Given the description of an element on the screen output the (x, y) to click on. 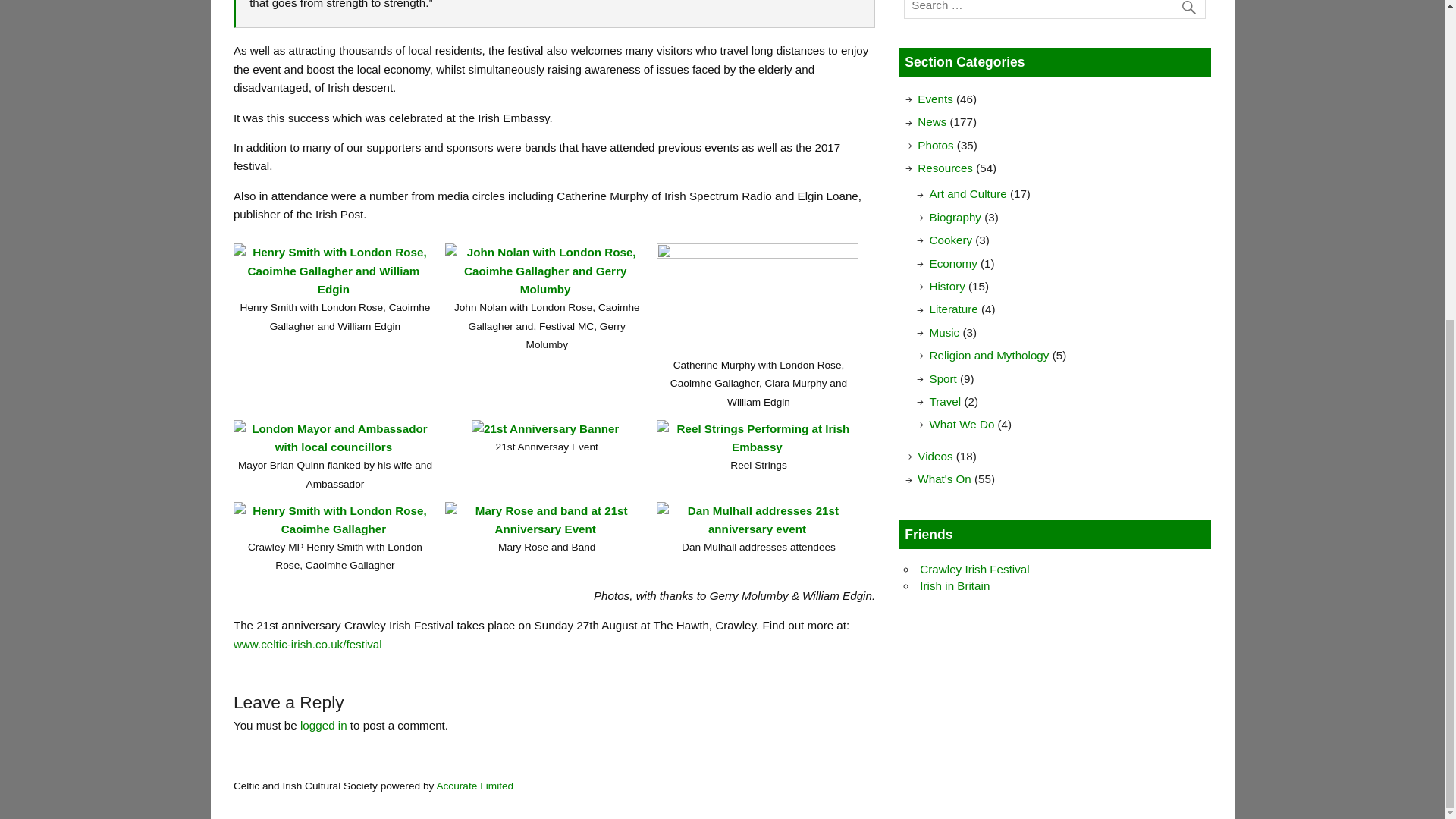
Biography (955, 216)
News (931, 121)
Art and Culture (968, 193)
Photos (935, 144)
Resources (944, 167)
Events (934, 98)
Economy (953, 263)
Cookery (951, 239)
logged in (323, 725)
Web Implementation by Accurate (474, 785)
